Given the description of an element on the screen output the (x, y) to click on. 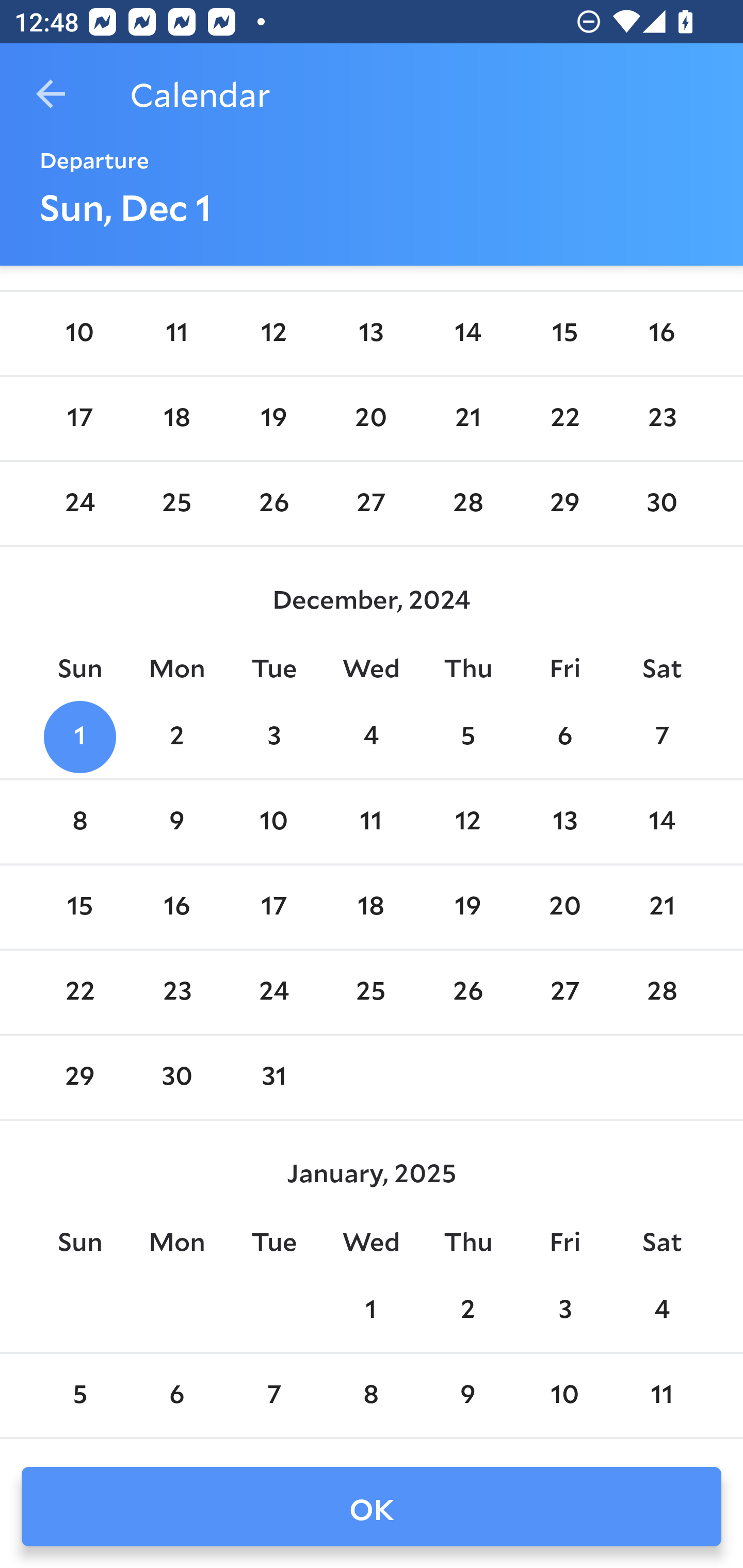
Navigate up (50, 93)
10 (79, 333)
11 (177, 333)
12 (273, 333)
13 (371, 333)
14 (467, 333)
15 (565, 333)
16 (661, 333)
17 (79, 418)
18 (177, 418)
19 (273, 418)
20 (371, 418)
21 (467, 418)
22 (565, 418)
23 (661, 418)
24 (79, 503)
25 (177, 503)
26 (273, 503)
27 (371, 503)
28 (467, 503)
29 (565, 503)
30 (661, 503)
1 (79, 736)
2 (177, 736)
3 (273, 736)
4 (371, 736)
5 (467, 736)
6 (565, 736)
7 (661, 736)
8 (79, 821)
9 (177, 821)
10 (273, 821)
11 (371, 821)
12 (467, 821)
13 (565, 821)
14 (661, 821)
15 (79, 907)
16 (177, 907)
17 (273, 907)
18 (371, 907)
19 (467, 907)
20 (565, 907)
21 (661, 907)
22 (79, 992)
23 (177, 992)
24 (273, 992)
25 (371, 992)
26 (467, 992)
27 (565, 992)
28 (661, 992)
29 (79, 1077)
30 (177, 1077)
31 (273, 1077)
1 (371, 1310)
2 (467, 1310)
3 (565, 1310)
4 (661, 1310)
5 (79, 1395)
6 (177, 1395)
7 (273, 1395)
8 (371, 1395)
9 (467, 1395)
10 (565, 1395)
11 (661, 1395)
OK (371, 1506)
